Given the description of an element on the screen output the (x, y) to click on. 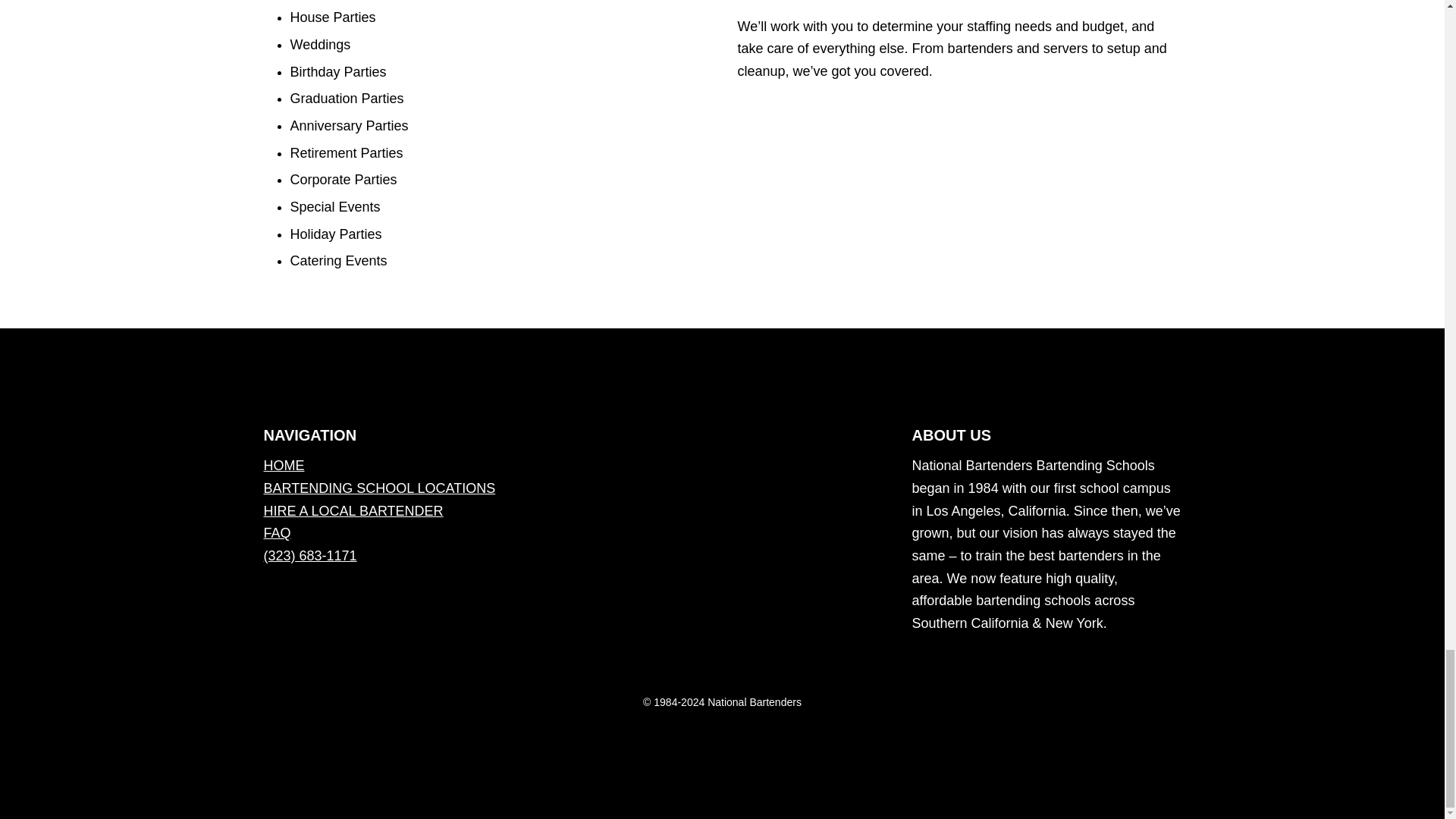
HOME (283, 465)
HIRE A LOCAL BARTENDER (353, 510)
FAQ (277, 532)
BARTENDING SCHOOL LOCATIONS (379, 488)
